Given the description of an element on the screen output the (x, y) to click on. 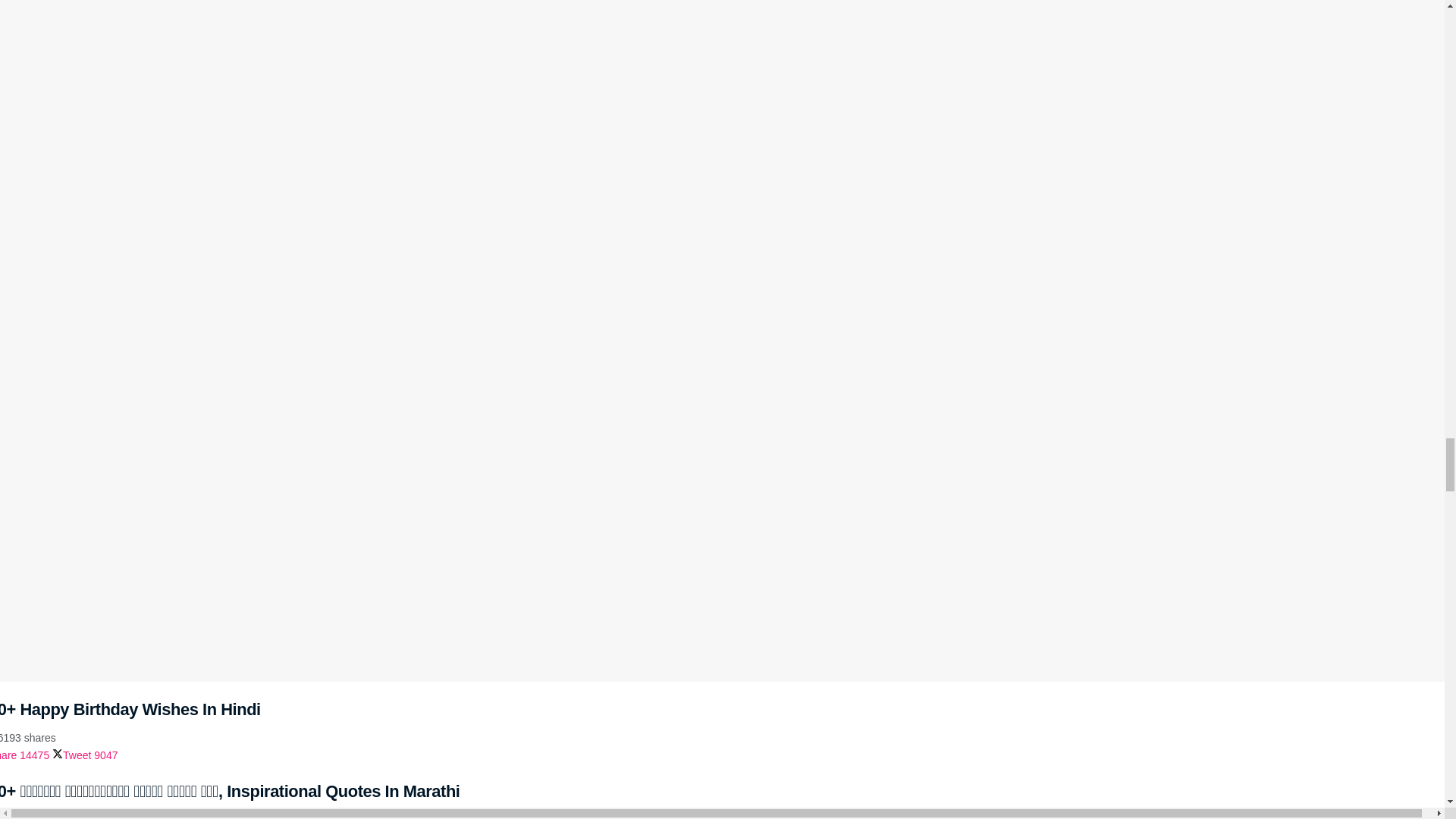
Share 14475 (24, 755)
Tweet 9047 (84, 755)
